Given the description of an element on the screen output the (x, y) to click on. 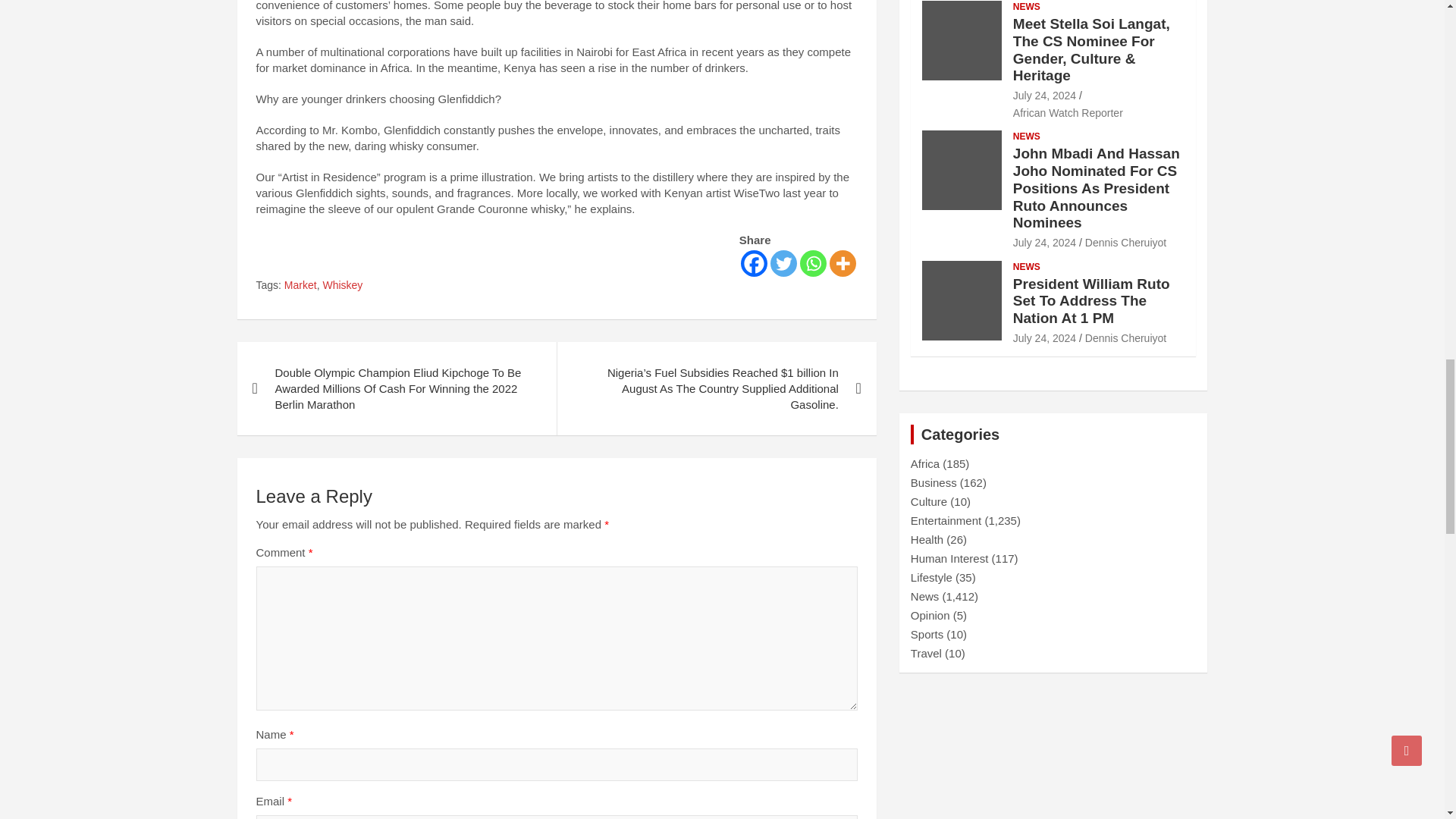
More (842, 263)
Facebook (754, 263)
Whiskey (341, 285)
Whatsapp (813, 263)
Twitter (783, 263)
Market (300, 285)
